Given the description of an element on the screen output the (x, y) to click on. 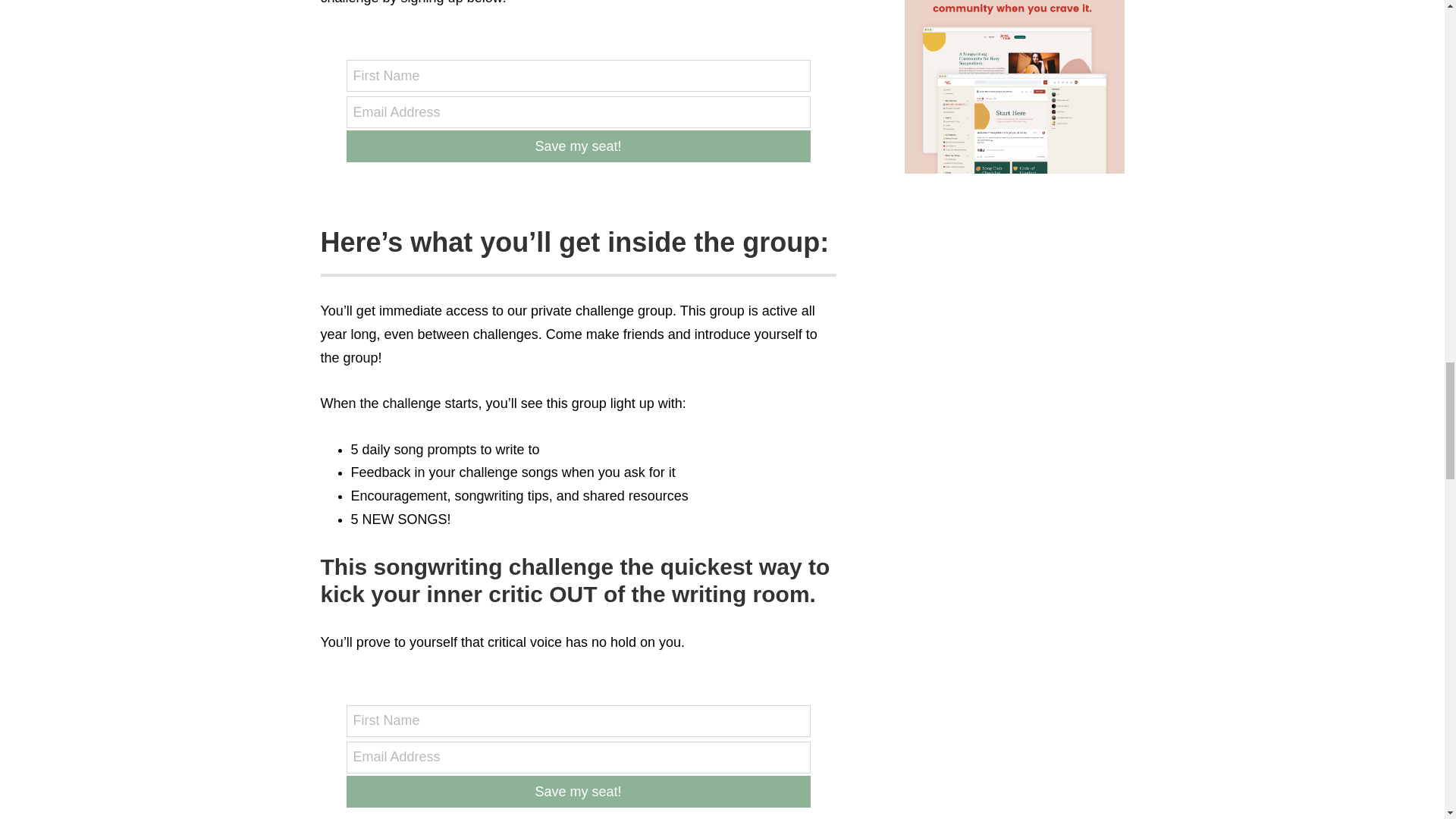
Song-Club-inside (1014, 86)
Save my seat! (577, 791)
Save my seat! (577, 146)
